Given the description of an element on the screen output the (x, y) to click on. 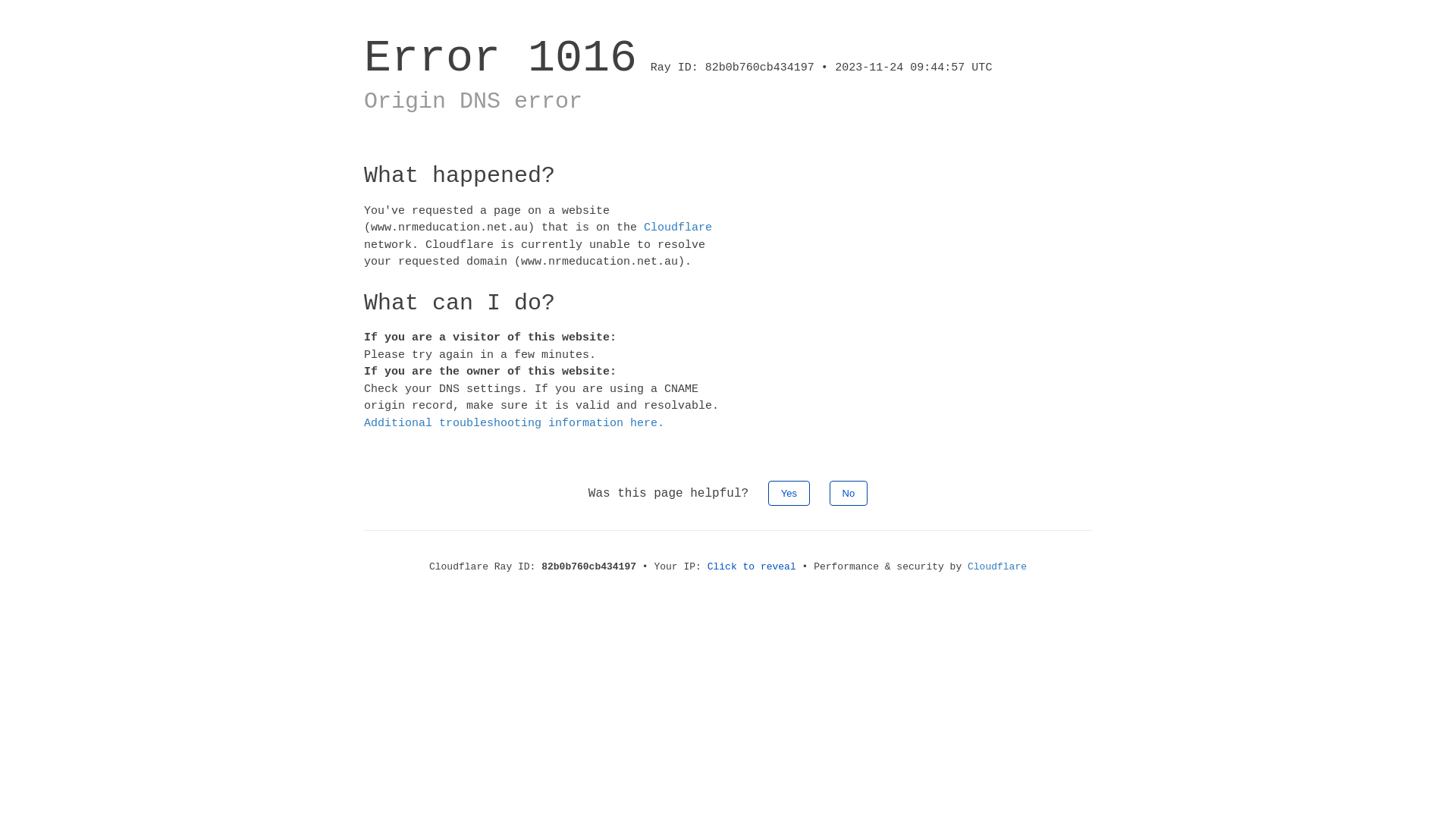
Yes Element type: text (788, 492)
Cloudflare Element type: text (996, 566)
Click to reveal Element type: text (751, 566)
Additional troubleshooting information here. Element type: text (514, 423)
Cloudflare Element type: text (677, 227)
No Element type: text (848, 492)
